Given the description of an element on the screen output the (x, y) to click on. 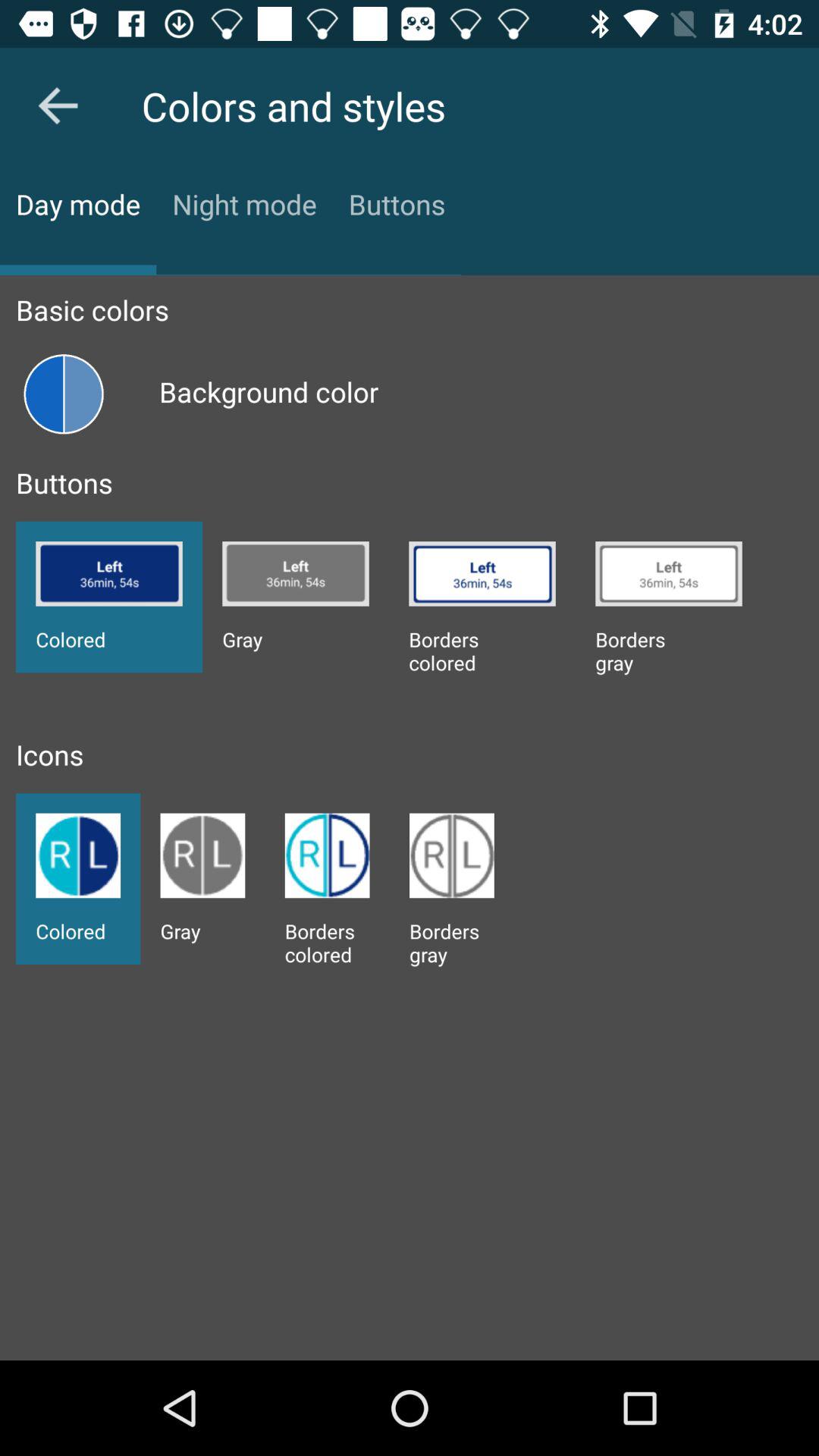
click the item above day mode (57, 105)
